Given the description of an element on the screen output the (x, y) to click on. 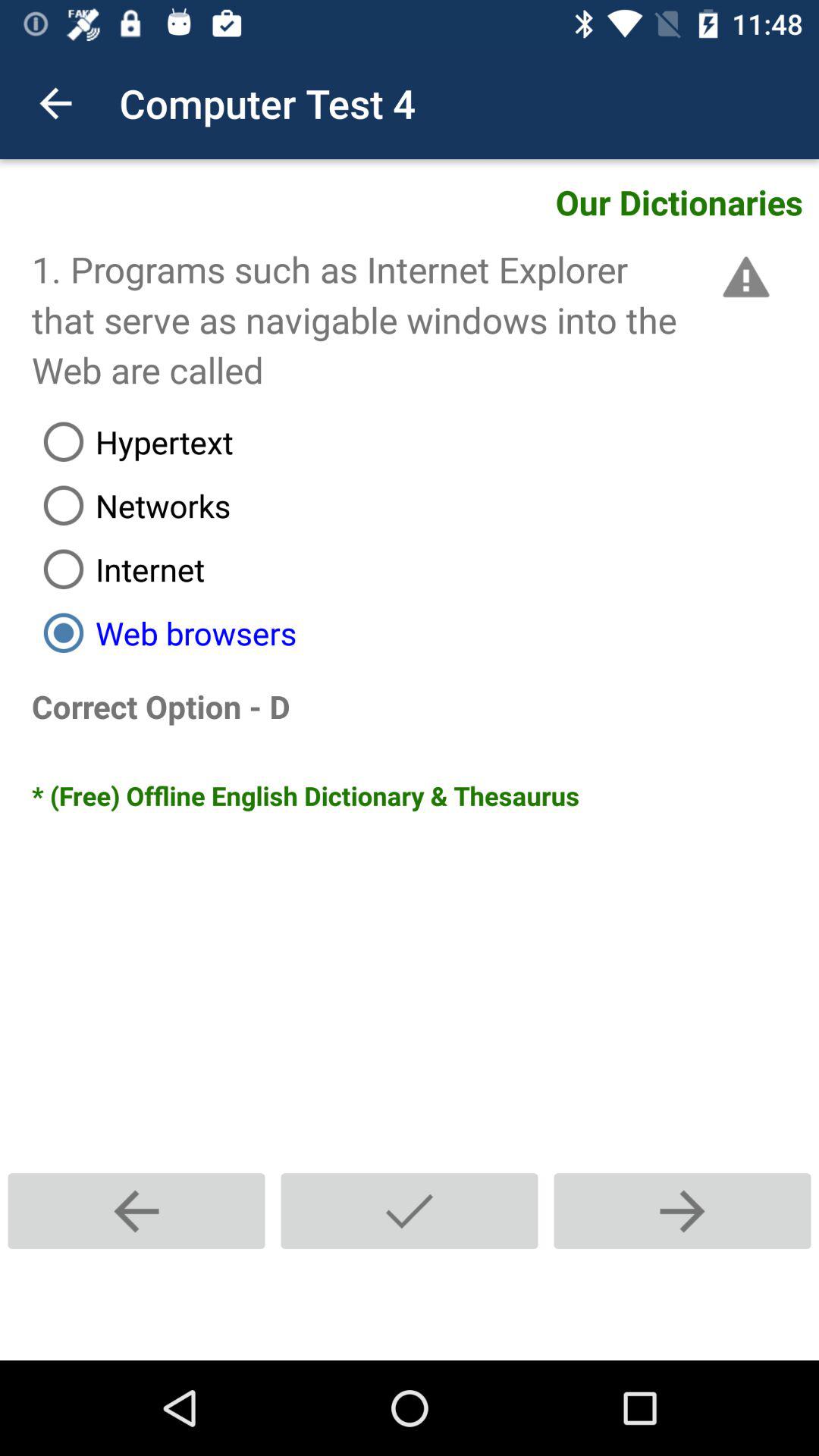
press icon above the hypertext (743, 276)
